Given the description of an element on the screen output the (x, y) to click on. 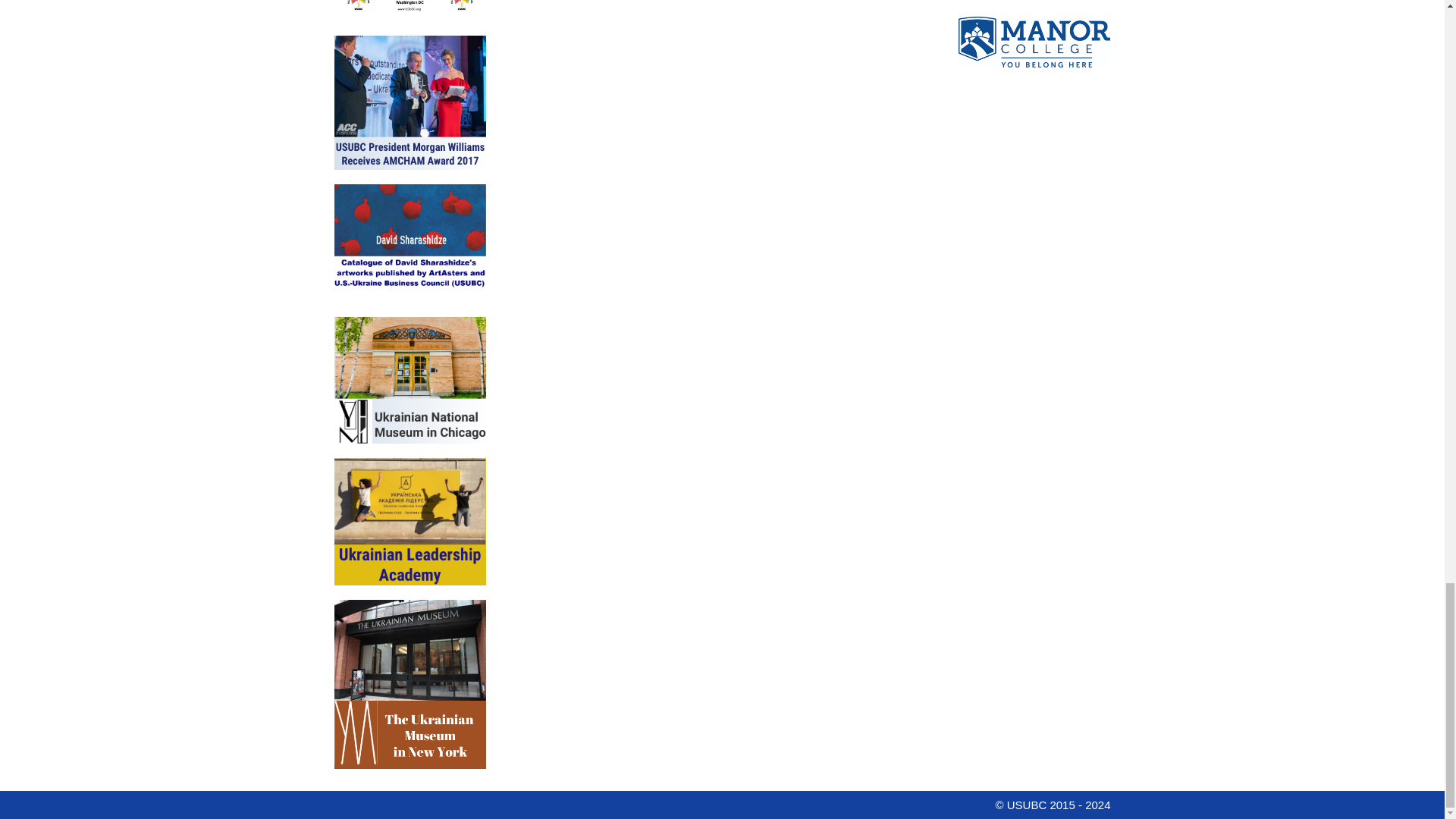
Ukrainian National Museum in Chicago (408, 521)
Ukrainian Leadership Academy (408, 663)
Morgan Williams received ACC Presidential Award (408, 176)
Ukraine Global Scholars (1033, 71)
David Sharashidze Artwork Catalogue (408, 375)
